Given the description of an element on the screen output the (x, y) to click on. 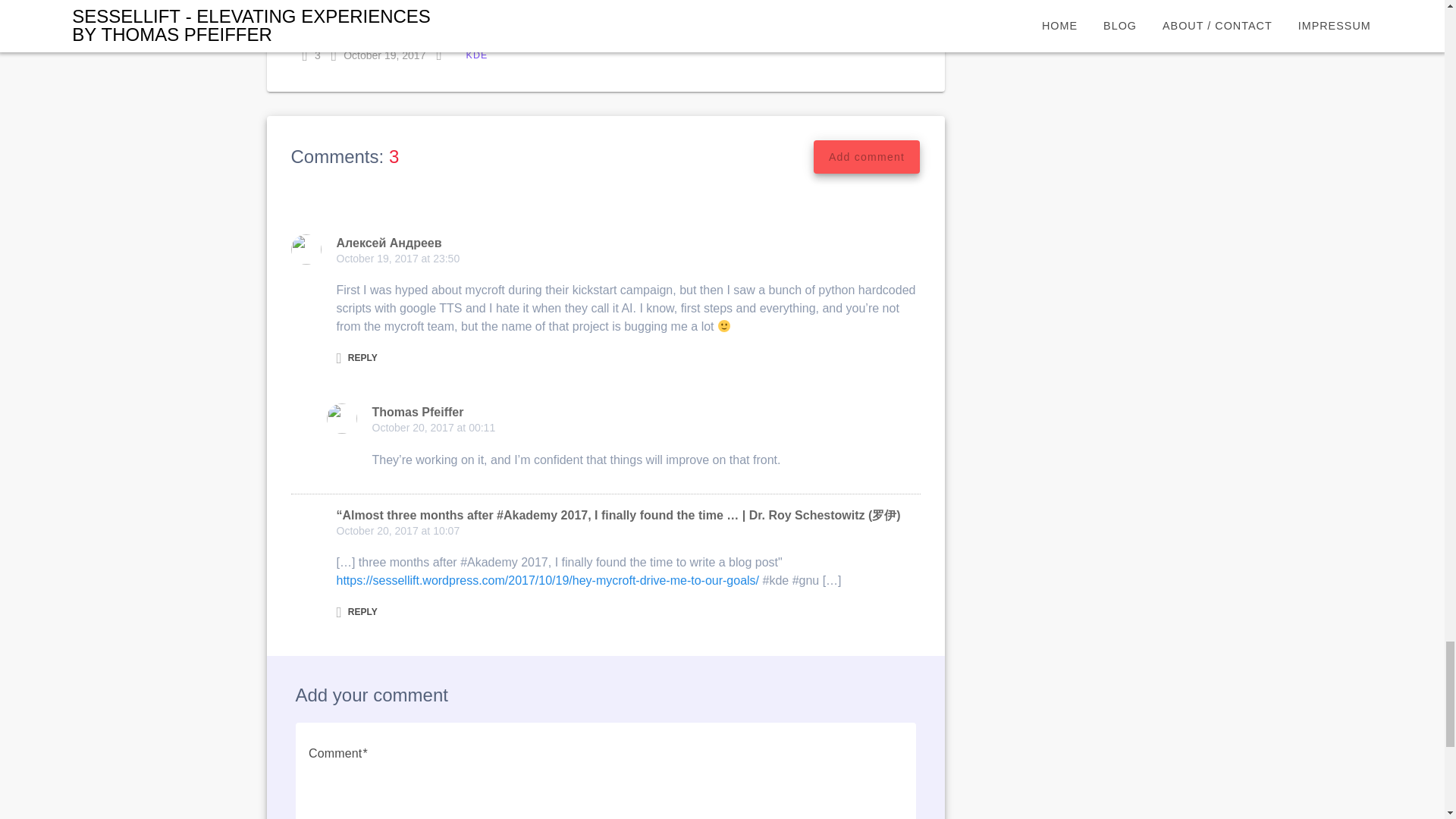
Thomas Pfeiffer (417, 411)
Add comment (866, 156)
October 20, 2017 at 10:07 (398, 530)
October 20, 2017 at 00:11 (433, 427)
October 19, 2017 at 23:50 (398, 258)
 REPLY (356, 357)
3 (310, 54)
October 19, 2017 (378, 54)
KDE (476, 55)
